Given the description of an element on the screen output the (x, y) to click on. 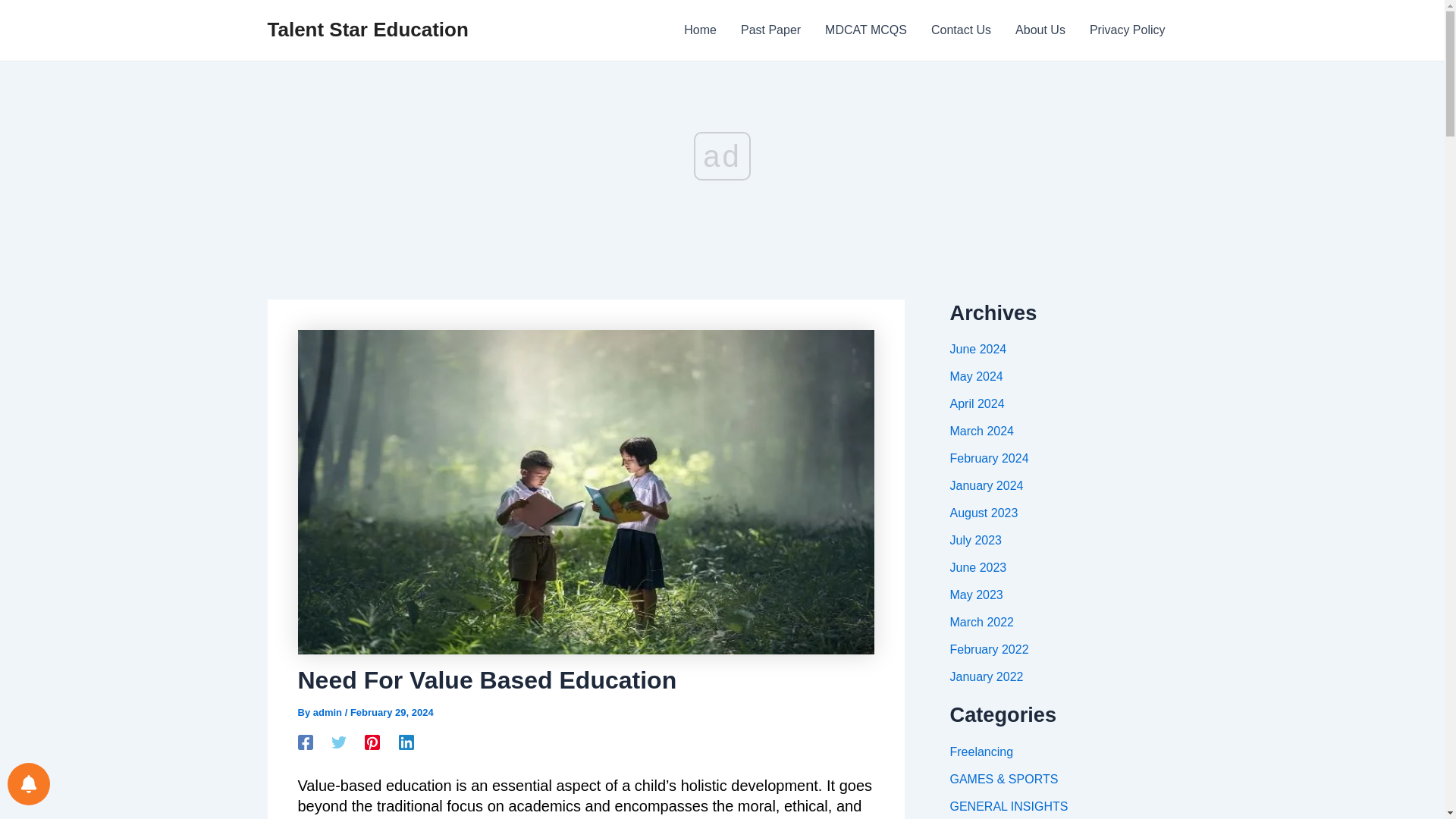
Privacy Policy (1127, 30)
MDCAT MCQS (865, 30)
Contact Us (960, 30)
Home (700, 30)
About Us (1040, 30)
View all posts by admin (329, 712)
Past Paper (770, 30)
Talent Star Education (366, 29)
